Given the description of an element on the screen output the (x, y) to click on. 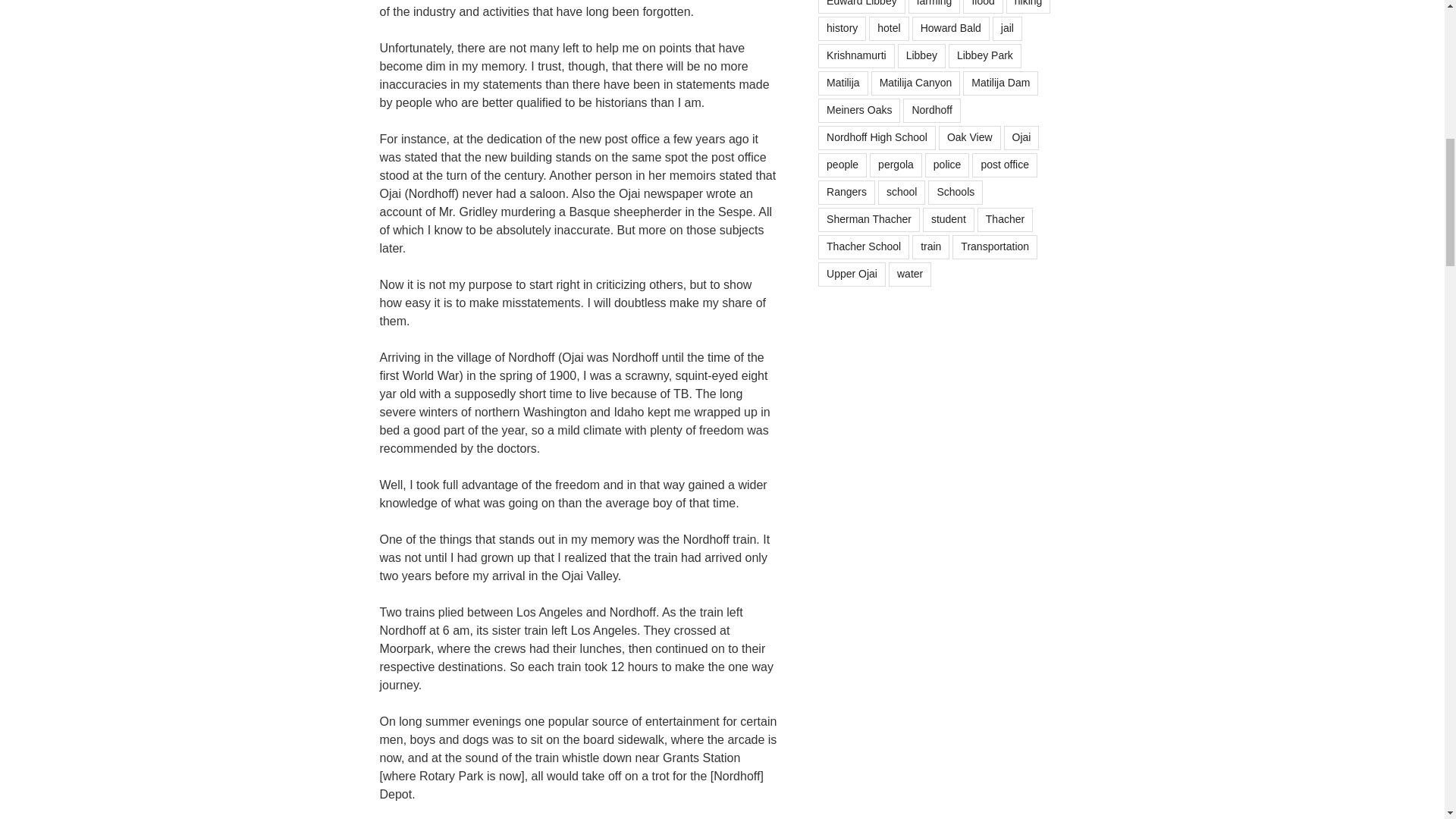
Edward Libbey (861, 6)
